Given the description of an element on the screen output the (x, y) to click on. 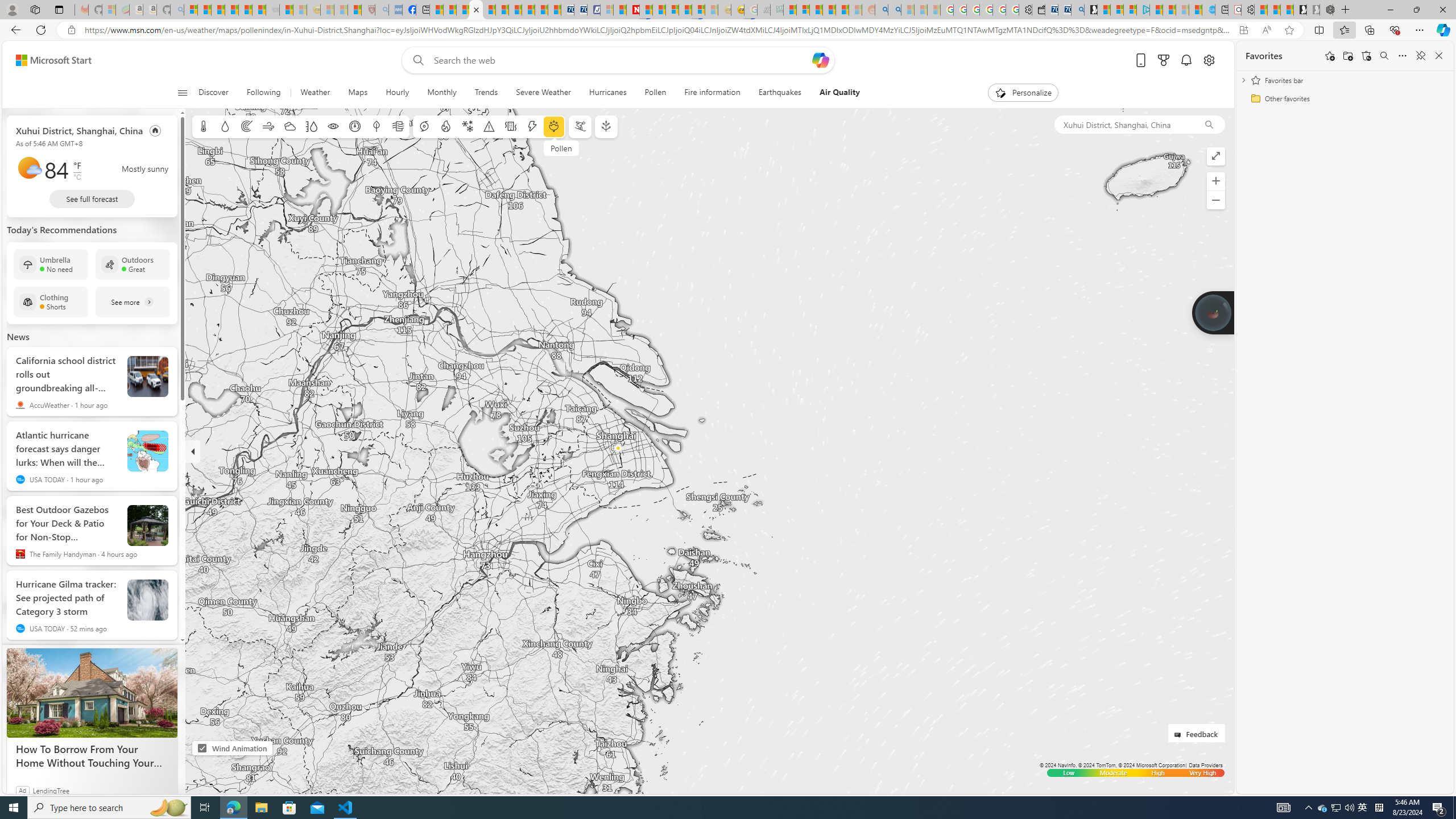
Personalize (1023, 92)
Search favorites (1383, 55)
Xuhui District, Shanghai, China (79, 130)
